Given the description of an element on the screen output the (x, y) to click on. 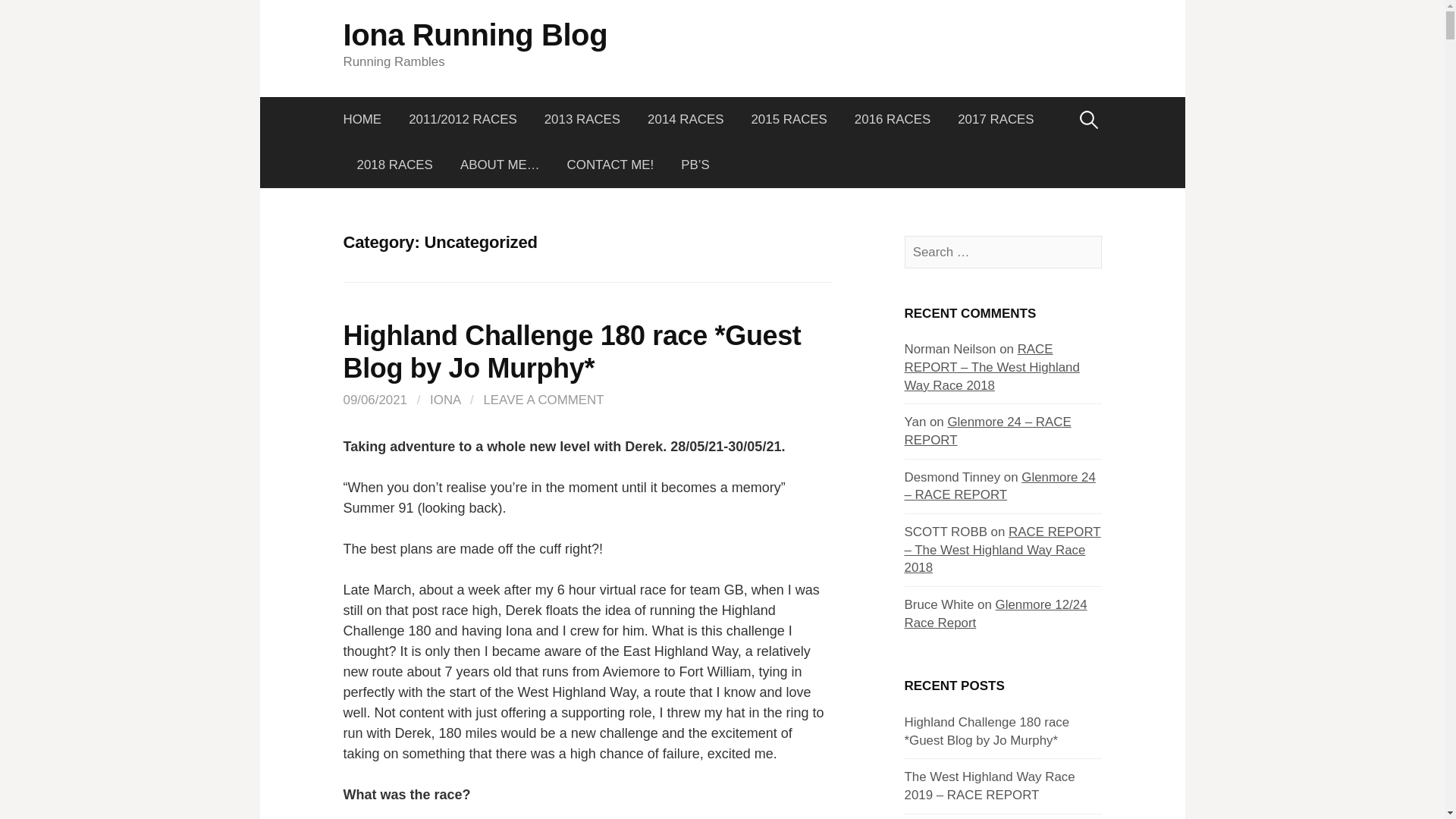
Iona Running Blog (474, 34)
LEAVE A COMMENT (543, 400)
CONTACT ME! (610, 165)
2016 RACES (892, 119)
2017 RACES (994, 119)
2018 RACES (393, 165)
2014 RACES (684, 119)
2013 RACES (582, 119)
IONA (444, 400)
Search (16, 16)
